Given the description of an element on the screen output the (x, y) to click on. 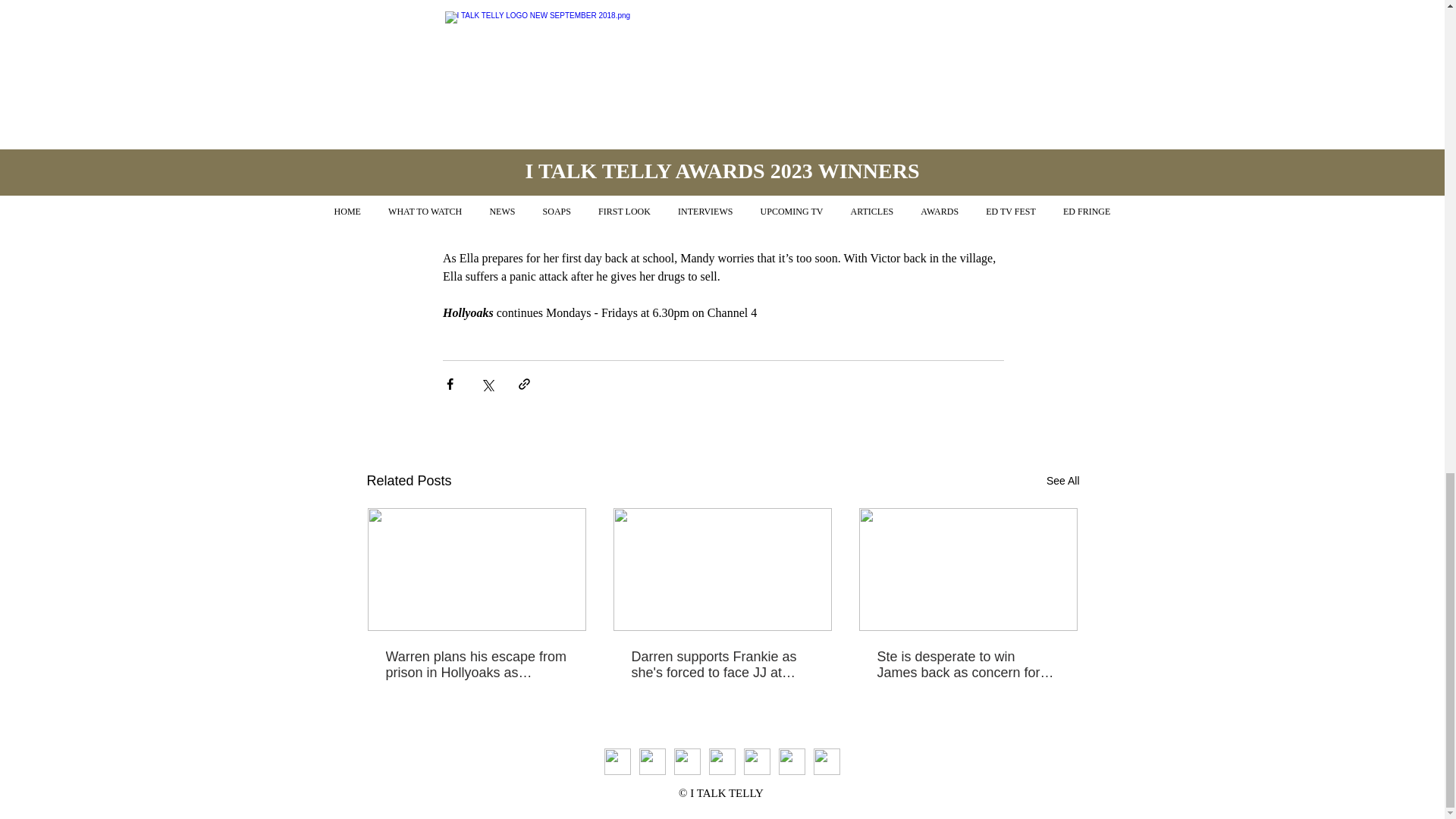
See All (1063, 481)
